Given the description of an element on the screen output the (x, y) to click on. 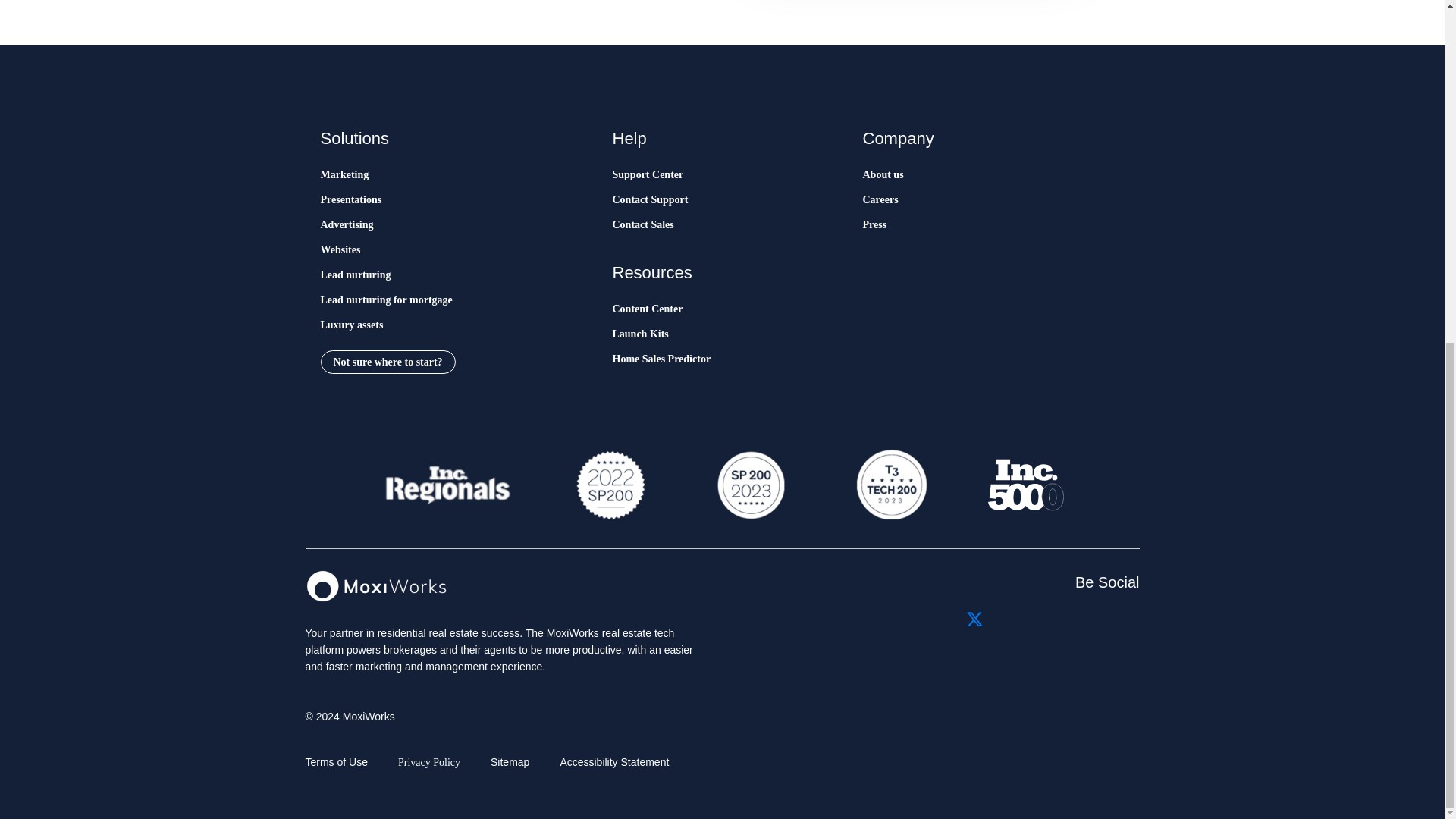
T3 tech 200 2023 (890, 484)
SP 2022 (610, 484)
SP 2023 (749, 484)
